Given the description of an element on the screen output the (x, y) to click on. 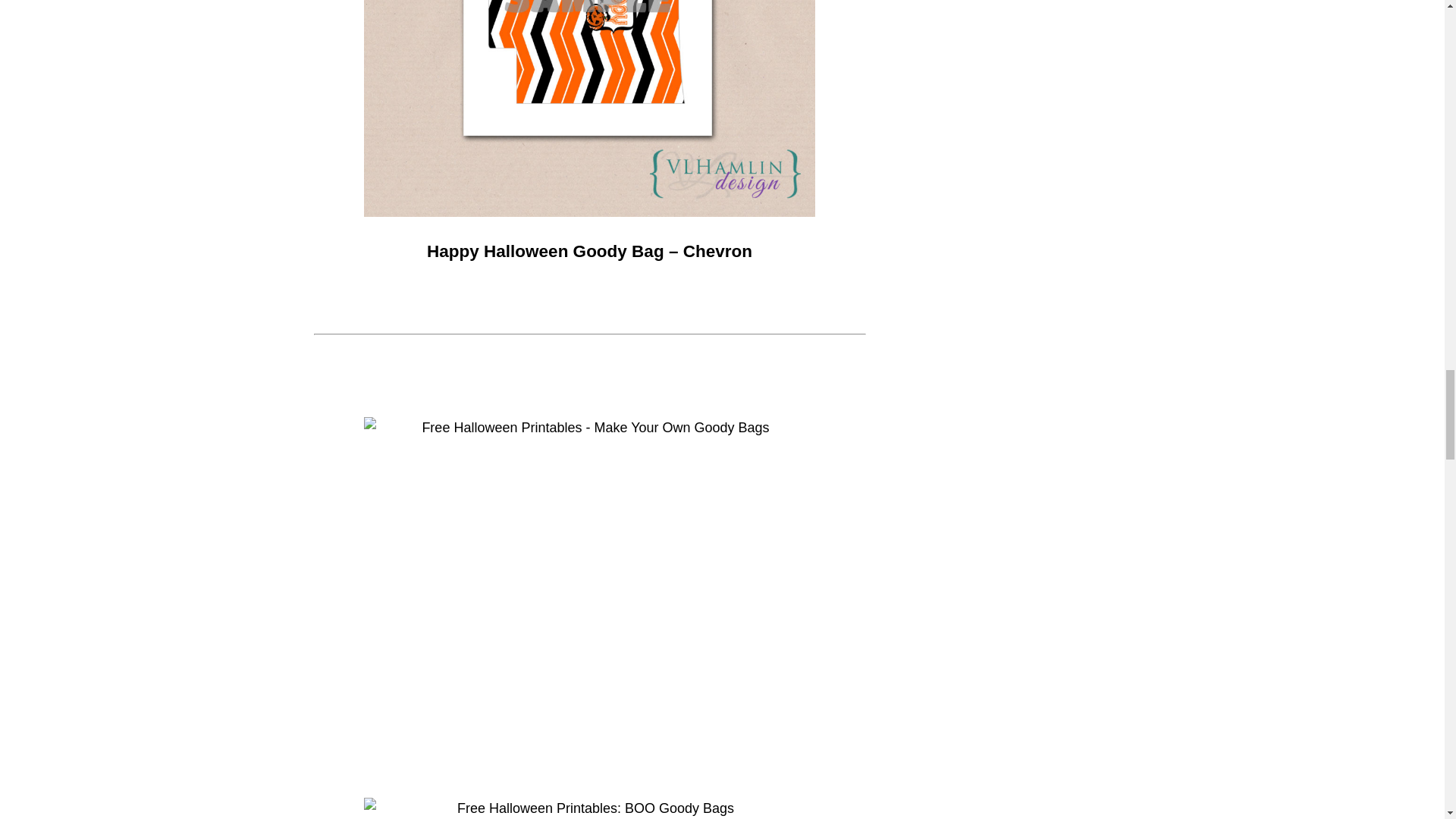
Free Halloween Printables: BOO Goody Bags (589, 808)
Free Halloween Printables: Happy Halloween Goody Bags (589, 108)
